Given the description of an element on the screen output the (x, y) to click on. 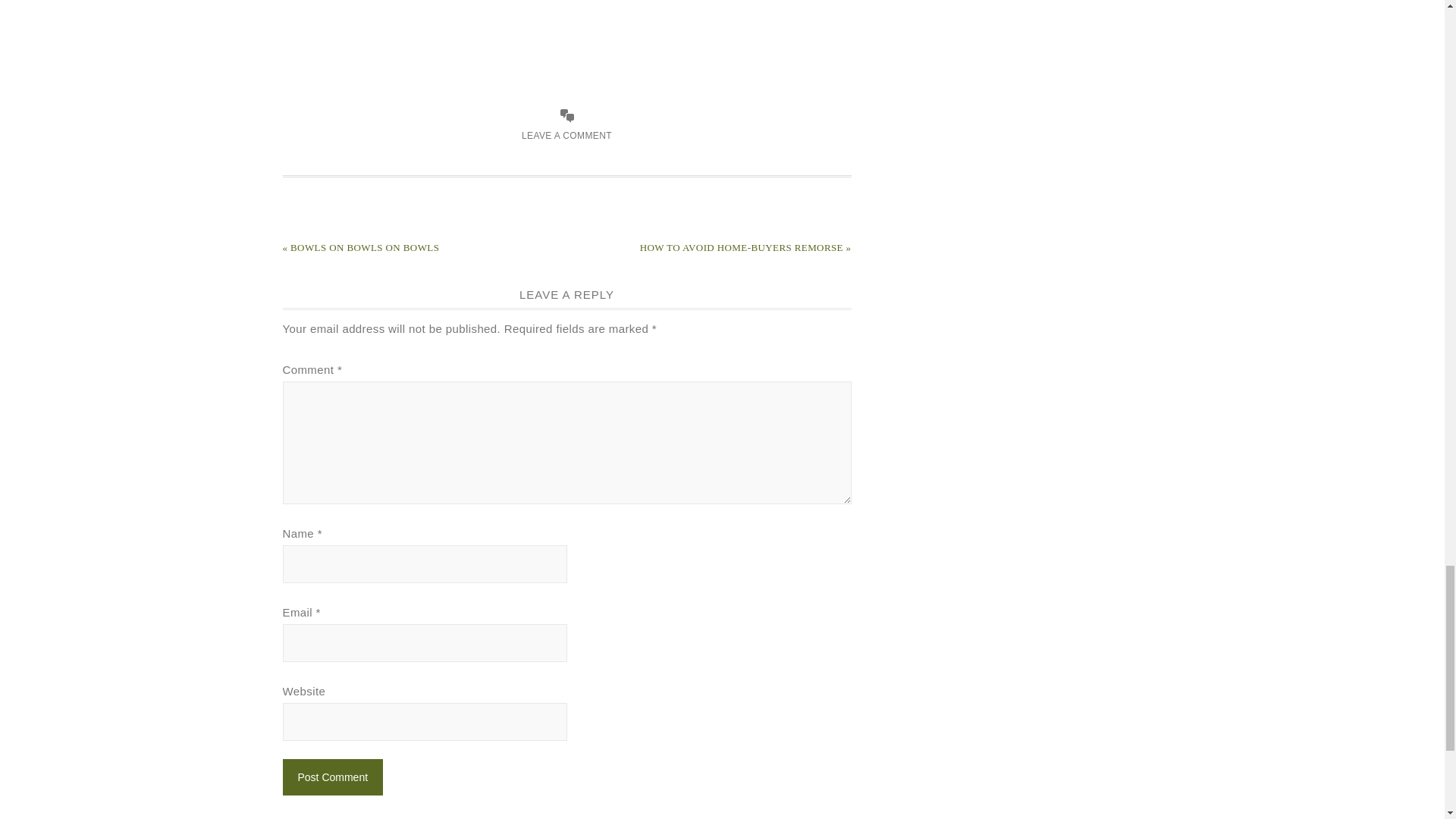
LEAVE A COMMENT (566, 135)
Post Comment (332, 777)
Post Comment (332, 777)
